Given the description of an element on the screen output the (x, y) to click on. 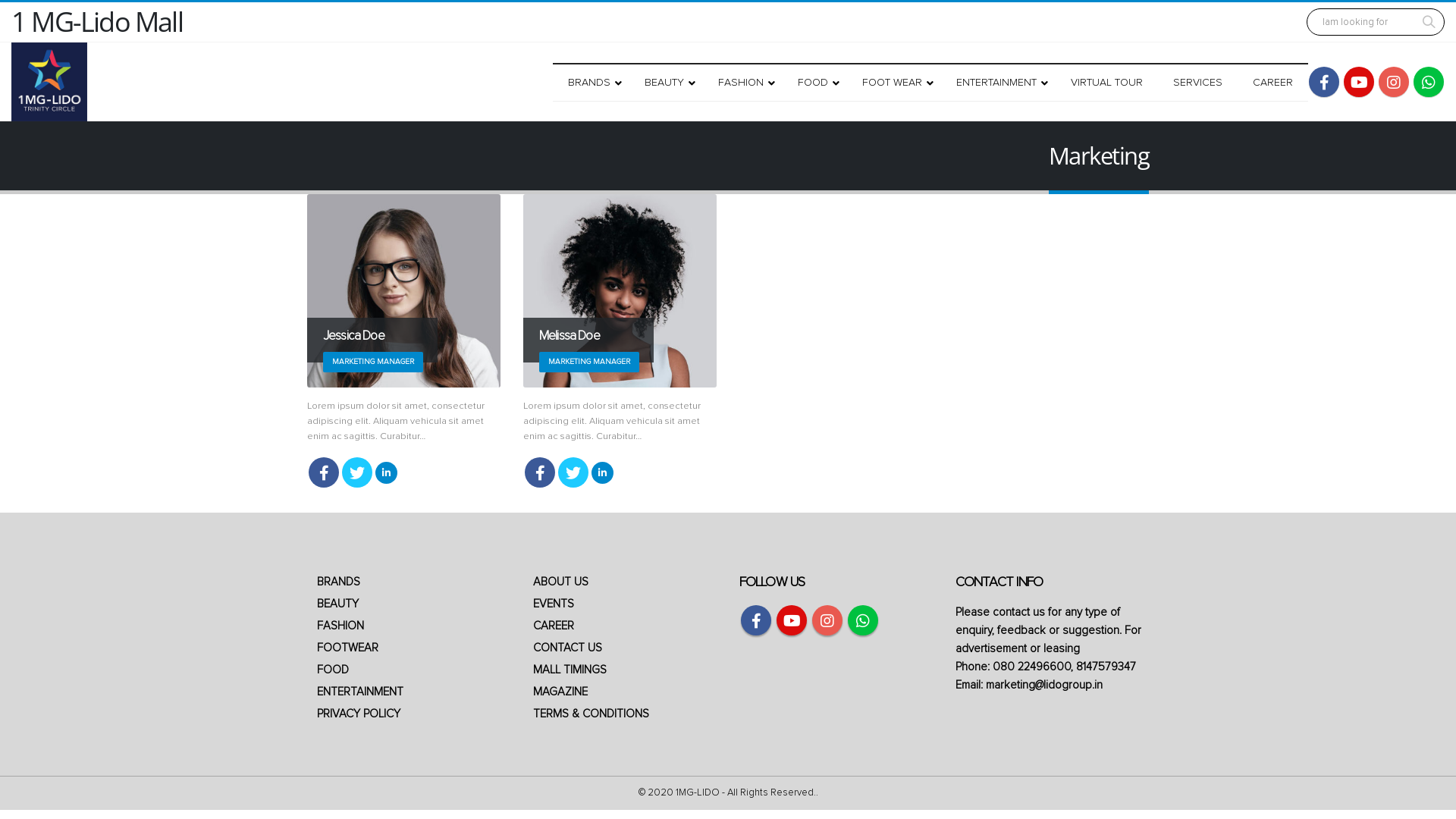
FOOD Element type: text (332, 669)
CONTACT US Element type: text (567, 647)
Search Element type: hover (1428, 21)
Facebook Element type: text (539, 472)
ENTERTAINMENT Element type: text (359, 691)
LinkedIn Element type: text (602, 472)
Facebook Element type: text (323, 472)
PRIVACY POLICY Element type: text (358, 713)
MALL TIMINGS Element type: text (569, 669)
LinkedIn Element type: text (386, 472)
BEAUTY Element type: text (665, 82)
CAREER Element type: text (1272, 82)
ENTERTAINMENT Element type: text (998, 82)
SERVICES Element type: text (1197, 82)
BRANDS Element type: text (338, 581)
FOOTWEAR Element type: text (347, 647)
ABOUT US Element type: text (560, 581)
FASHION Element type: text (742, 82)
Instagram Element type: hover (1393, 81)
WhatsApp Element type: text (862, 620)
Youtube Element type: hover (1358, 81)
Youtube Element type: text (791, 620)
CAREER Element type: text (553, 625)
Facebook Element type: text (755, 620)
MAGAZINE Element type: text (560, 691)
TERMS & CONDITIONS Element type: text (591, 713)
EVENTS Element type: text (553, 603)
FOOT WEAR Element type: text (894, 82)
Twitter Element type: text (357, 472)
Instagram Element type: text (827, 620)
WhatsApp Element type: text (1428, 81)
Facebook Element type: hover (1323, 81)
- Element type: hover (49, 81)
Twitter Element type: text (573, 472)
FASHION Element type: text (340, 625)
080 22496600 Element type: text (1031, 666)
FOOD Element type: text (814, 82)
marketing@lidogroup.in Element type: text (1043, 684)
BEAUTY Element type: text (337, 603)
8147579347 Element type: text (1105, 666)
VIRTUAL TOUR Element type: text (1106, 82)
BRANDS Element type: text (590, 82)
